Given the description of an element on the screen output the (x, y) to click on. 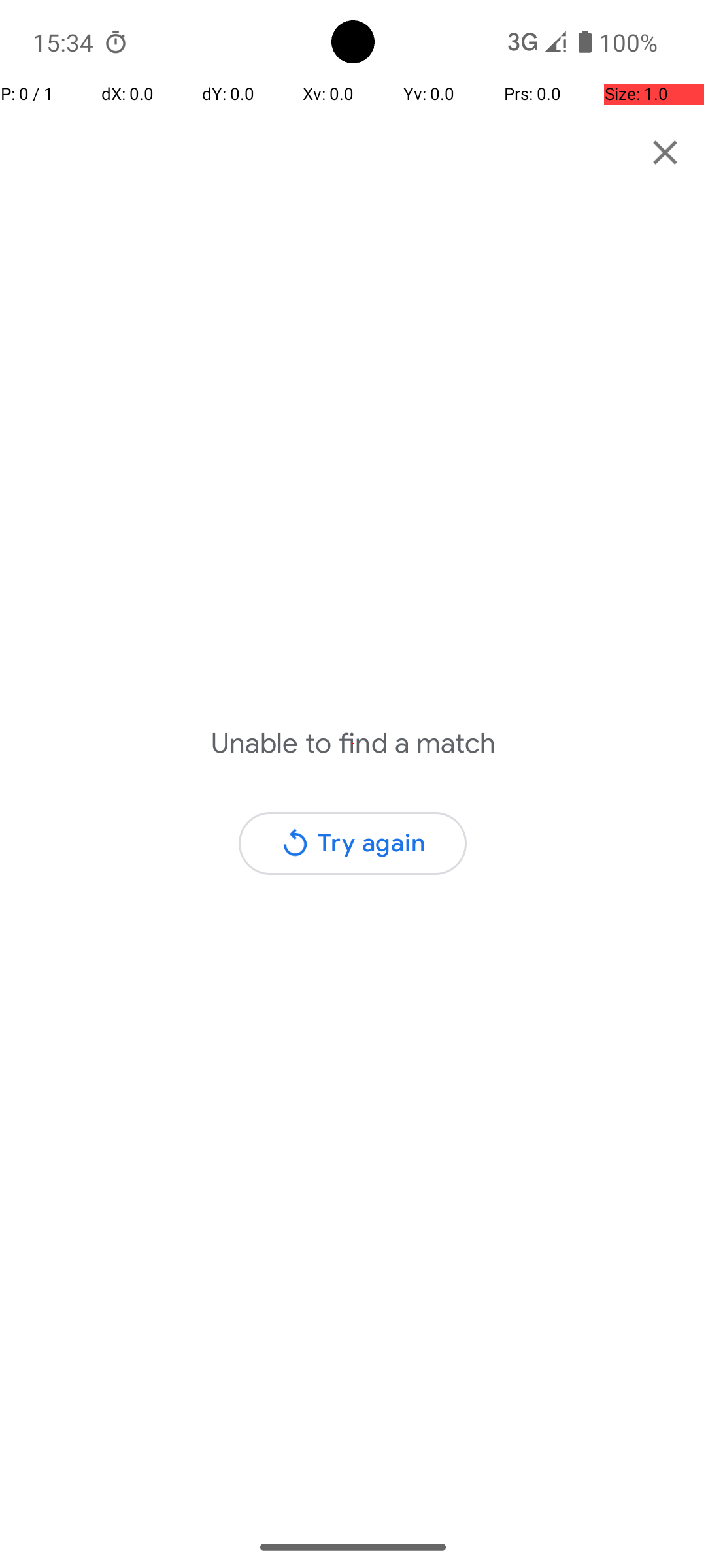
Unable to find a match Element type: android.widget.TextView (352, 743)
